Given the description of an element on the screen output the (x, y) to click on. 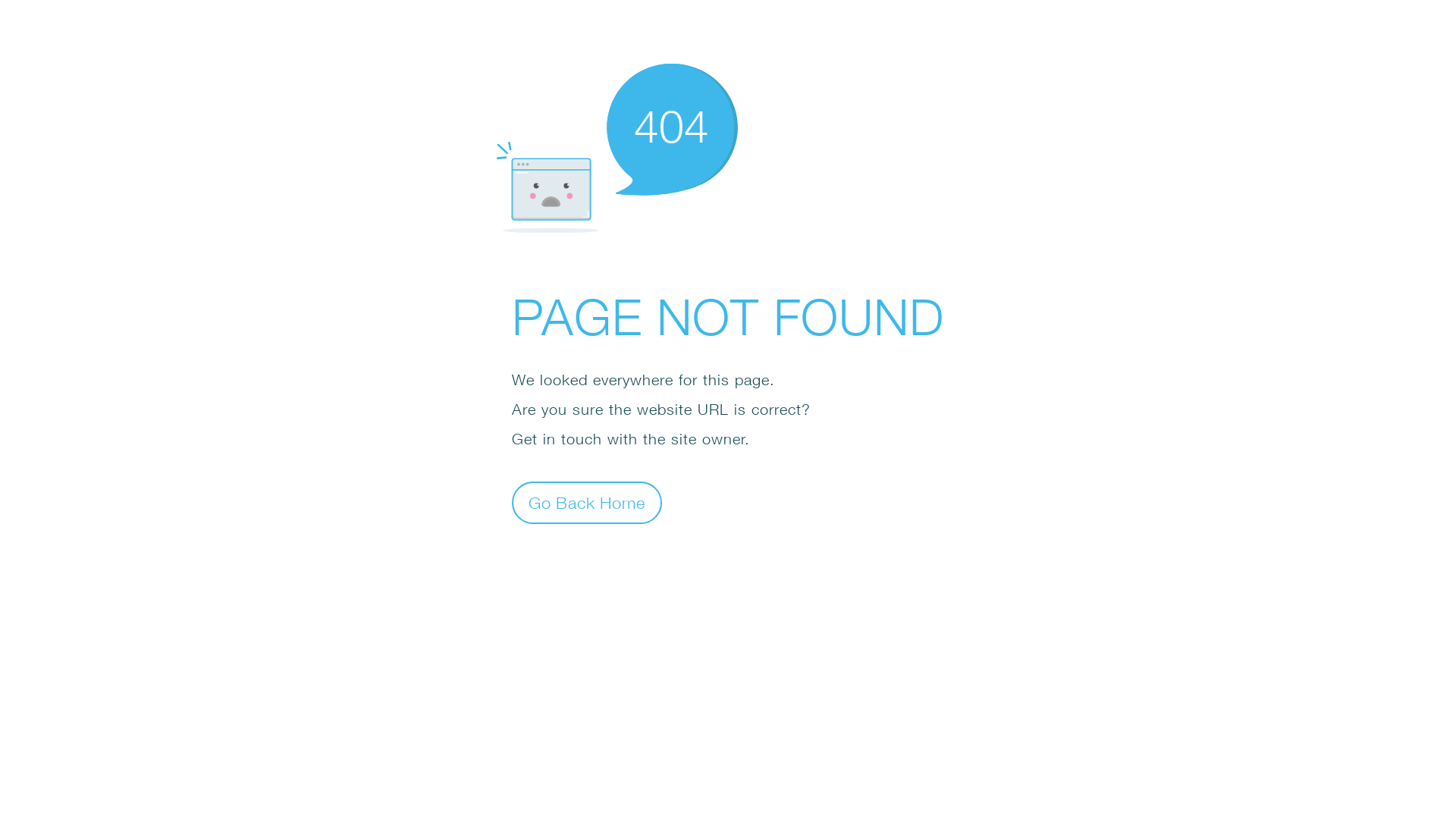
Go Back Home Element type: text (586, 502)
